Given the description of an element on the screen output the (x, y) to click on. 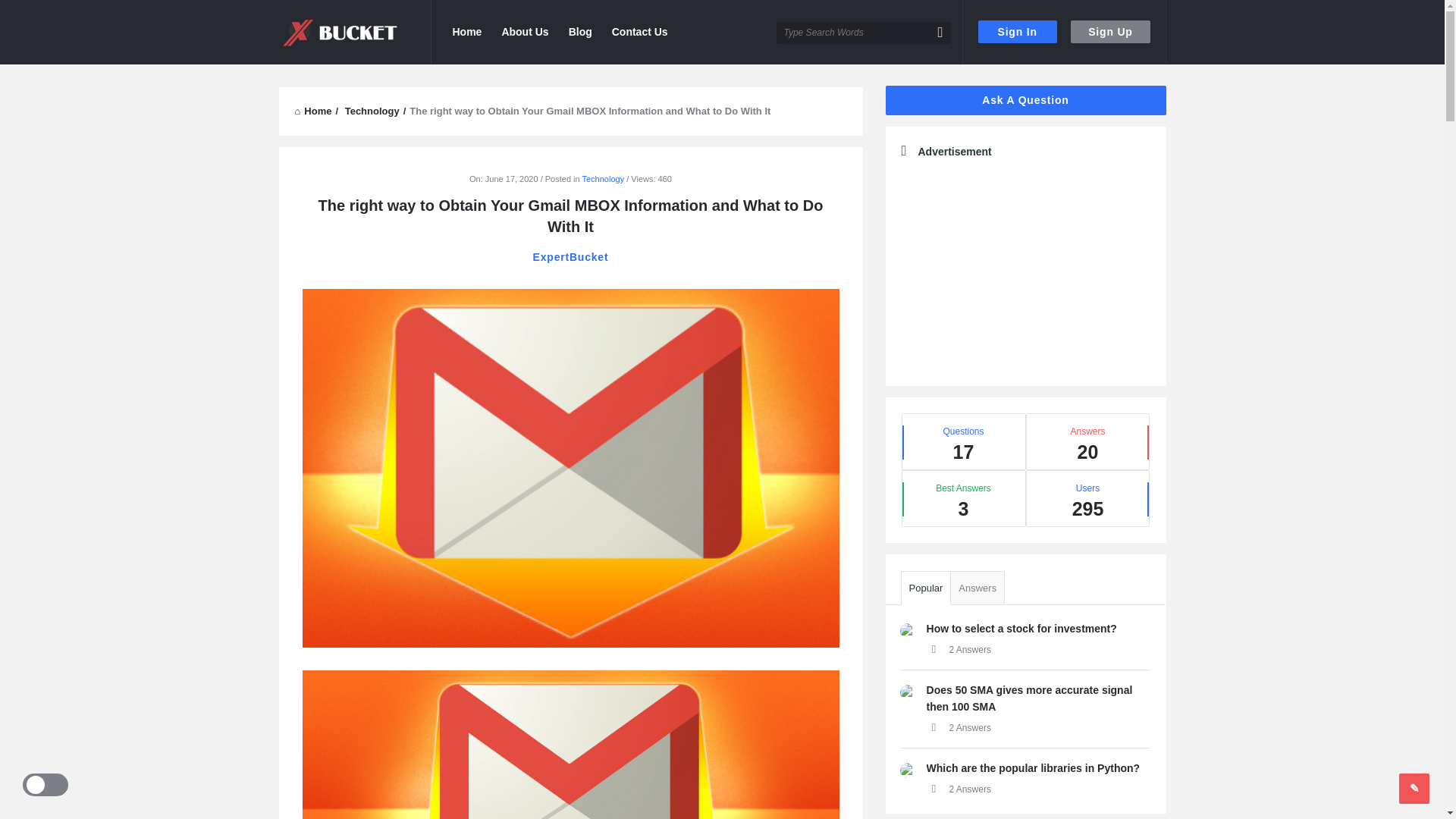
Blog (580, 32)
Expert Bucket (340, 32)
Sign In (1017, 31)
Technology (371, 111)
ExpertBucket (570, 256)
haribabu (907, 692)
About Us (524, 32)
Technology (603, 178)
Expert Bucket (354, 32)
Home (312, 111)
Technology (371, 111)
Home (312, 111)
Home (466, 32)
Contact Us (639, 32)
